Given the description of an element on the screen output the (x, y) to click on. 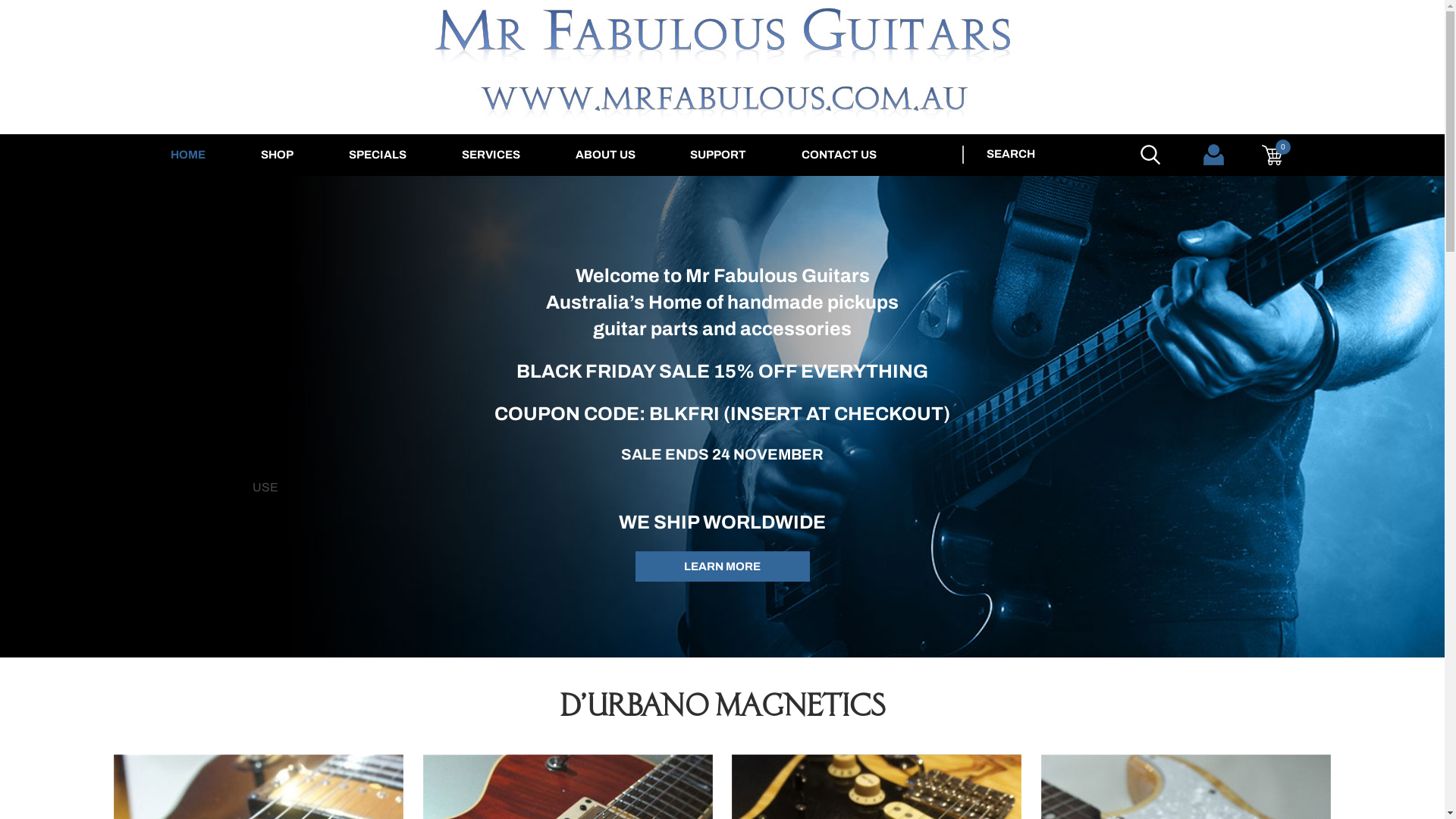
SHOP Element type: text (277, 154)
CONTACT US Element type: text (834, 154)
SERVICES Element type: text (490, 154)
LEARN MORE Element type: text (722, 566)
My Cart Element type: hover (1272, 154)
Search Element type: hover (1150, 154)
0 Element type: text (1272, 154)
SPECIALS Element type: text (377, 154)
HOME Element type: text (188, 154)
SUPPORT Element type: text (717, 154)
My Account Element type: hover (1213, 154)
ABOUT US Element type: text (605, 154)
